Given the description of an element on the screen output the (x, y) to click on. 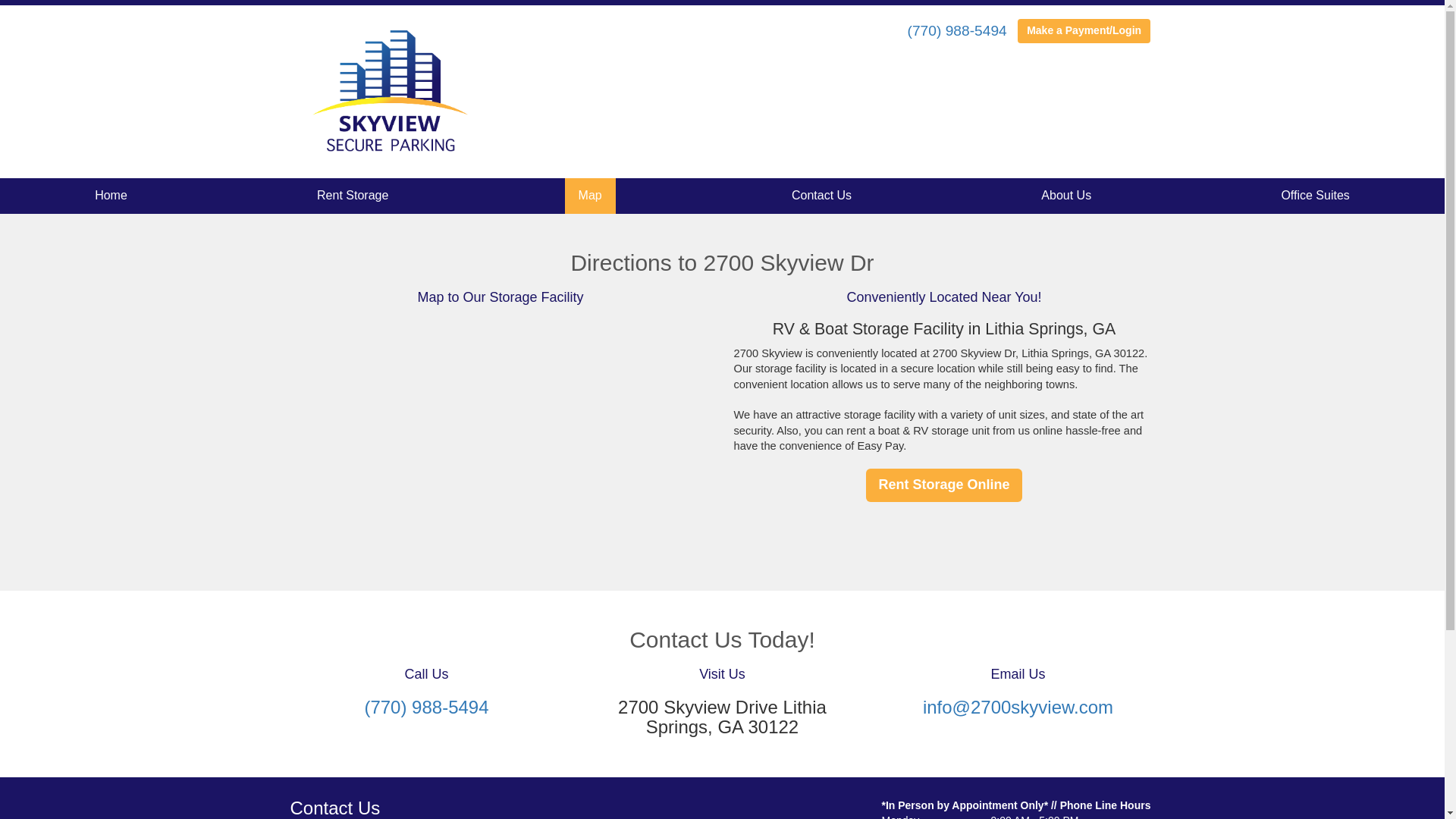
Office Suites Element type: text (1314, 195)
(770) 988-5494 Element type: text (426, 706)
About Us Element type: text (1065, 195)
info@2700skyview.com Element type: text (1017, 706)
Rent Storage Online Element type: text (943, 485)
Rent Storage Element type: text (352, 195)
Contact Us Element type: text (821, 195)
Make a Payment/Login Element type: text (1083, 30)
Map Element type: text (589, 195)
Home Element type: text (111, 195)
(770) 988-5494 Element type: text (957, 30)
